Given the description of an element on the screen output the (x, y) to click on. 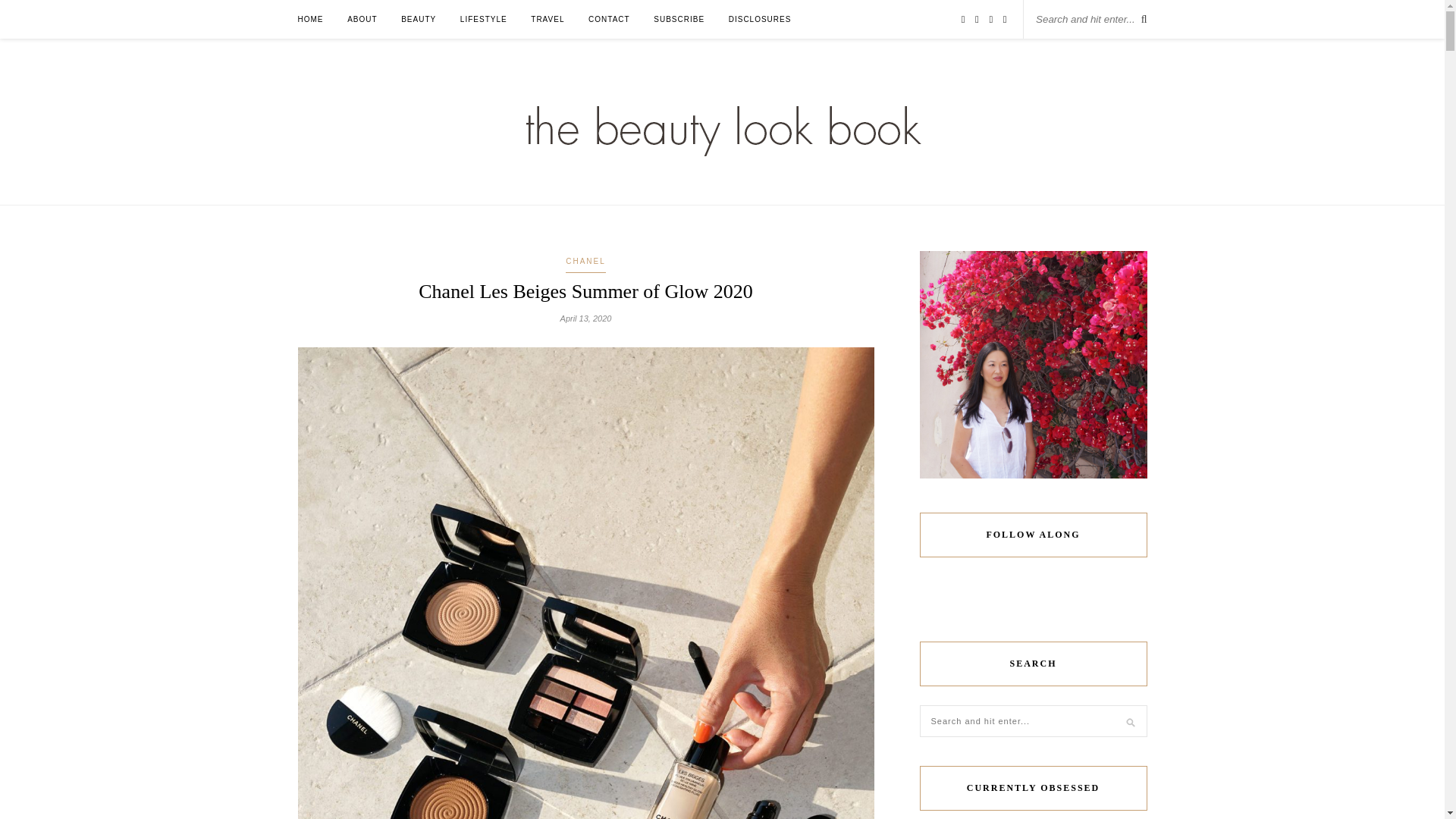
SUBSCRIBE (678, 19)
View all posts in Chanel (585, 261)
CONTACT (609, 19)
DISCLOSURES (760, 19)
BEAUTY (418, 19)
LIFESTYLE (483, 19)
